Given the description of an element on the screen output the (x, y) to click on. 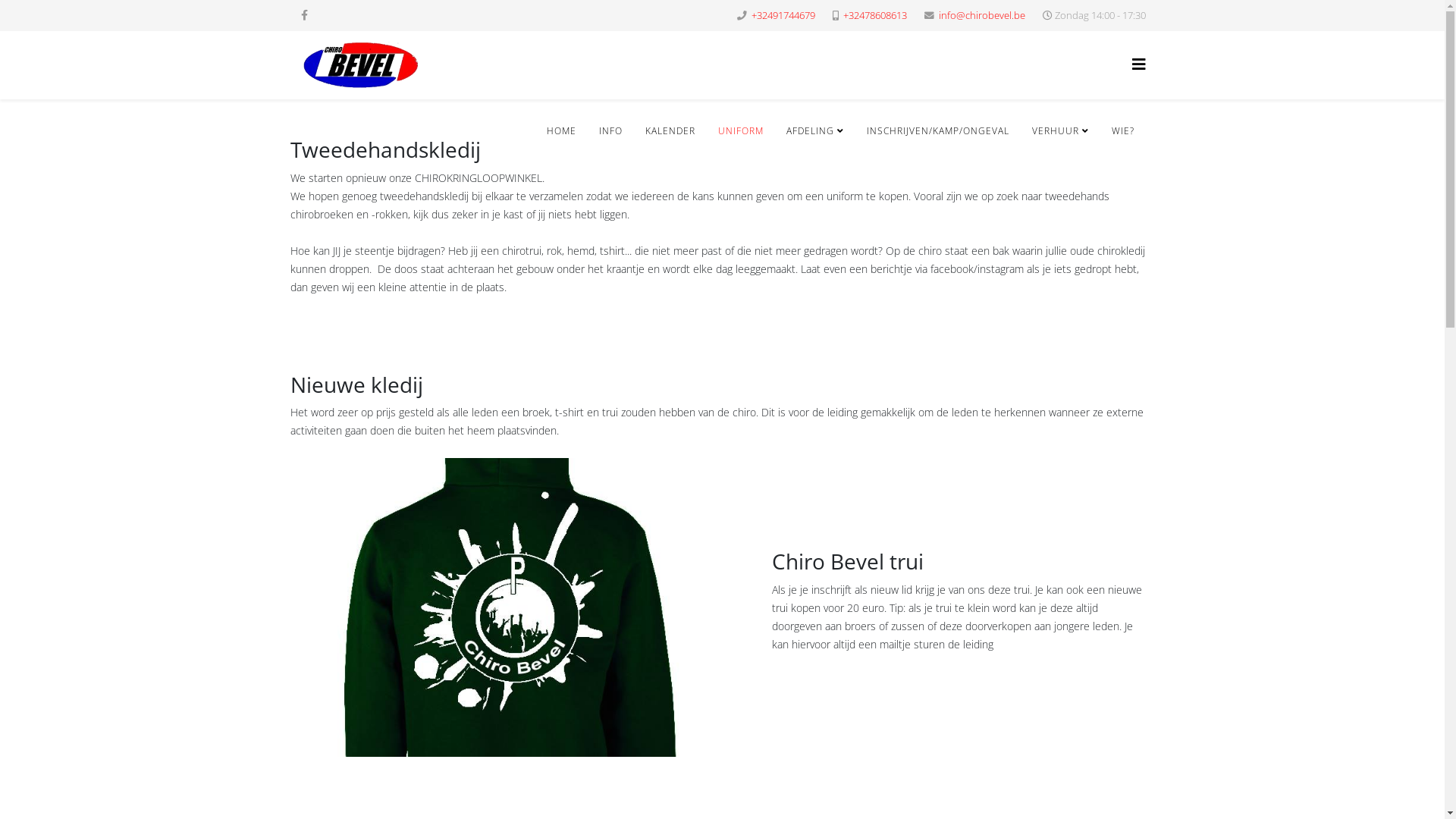
INSCHRIJVEN/KAMP/ONGEVAL Element type: text (937, 131)
AFDELING Element type: text (815, 131)
+32478608613 Element type: text (874, 15)
KALENDER Element type: text (669, 131)
HOME Element type: text (561, 131)
INFO Element type: text (609, 131)
WIE? Element type: text (1122, 131)
info@chirobevel.be Element type: text (981, 15)
+32491744679 Element type: text (782, 15)
VERHUUR Element type: text (1060, 131)
UNIFORM Element type: text (740, 131)
Helix3 Megamenu Options Element type: hover (1138, 64)
